Given the description of an element on the screen output the (x, y) to click on. 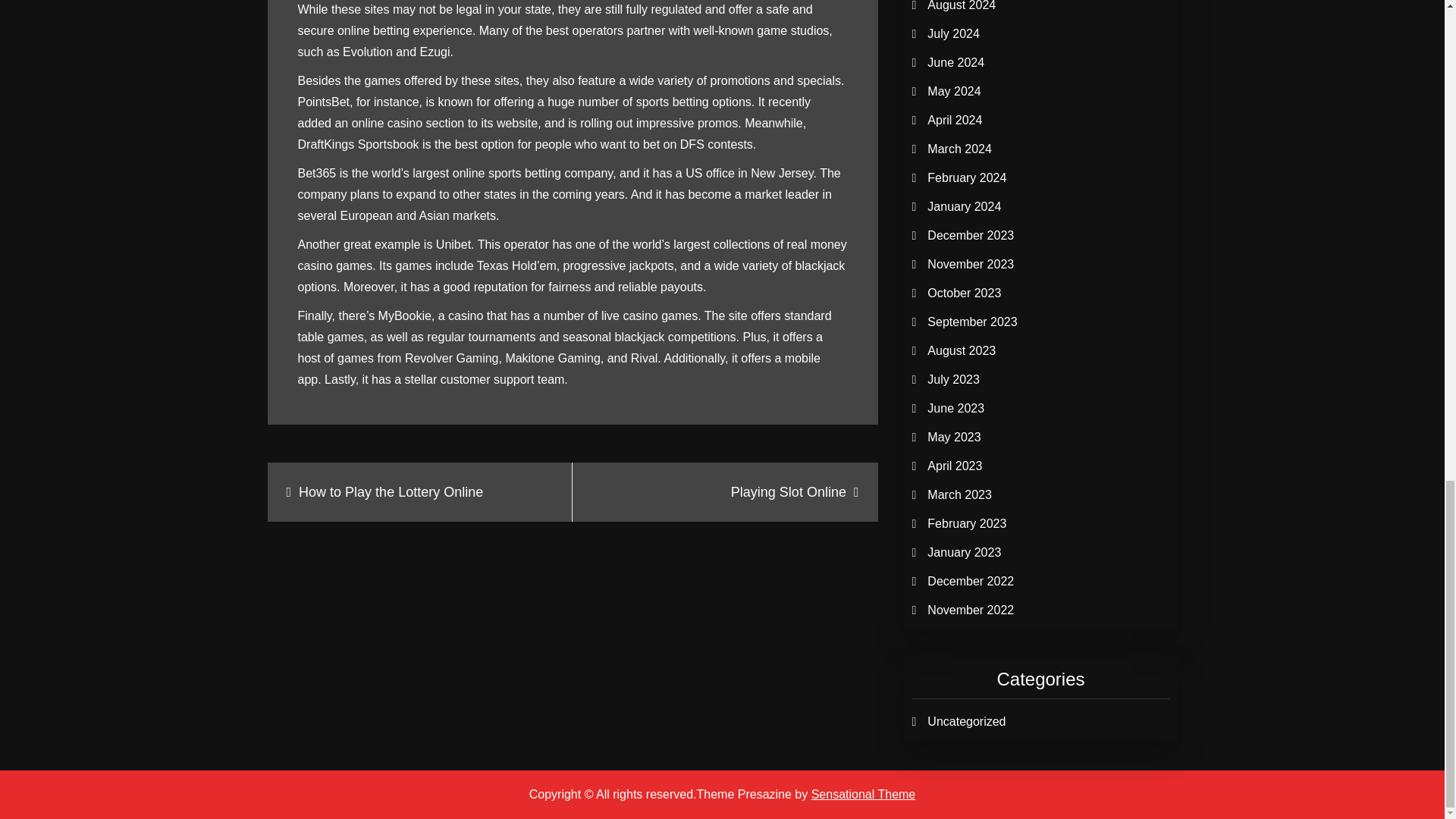
May 2024 (953, 91)
April 2023 (954, 465)
Playing Slot Online (724, 491)
August 2023 (961, 350)
March 2023 (959, 494)
July 2023 (953, 379)
October 2023 (964, 292)
September 2023 (971, 321)
July 2024 (953, 33)
April 2024 (954, 119)
January 2024 (964, 205)
May 2023 (953, 436)
February 2024 (966, 177)
June 2023 (955, 408)
June 2024 (955, 62)
